Given the description of an element on the screen output the (x, y) to click on. 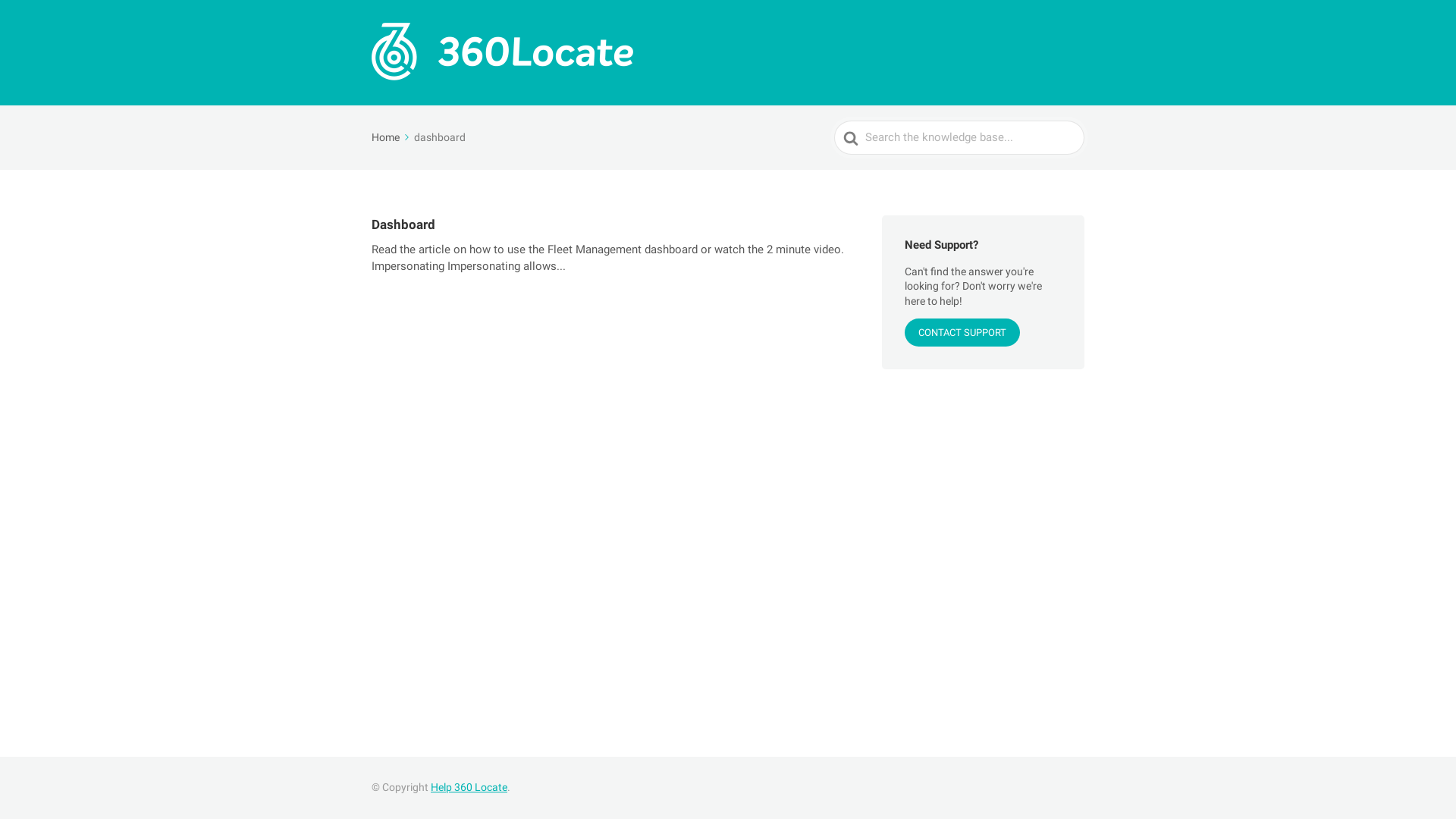
Home Element type: text (391, 137)
Help 360 Locate Element type: text (468, 787)
CONTACT SUPPORT Element type: text (961, 332)
